Given the description of an element on the screen output the (x, y) to click on. 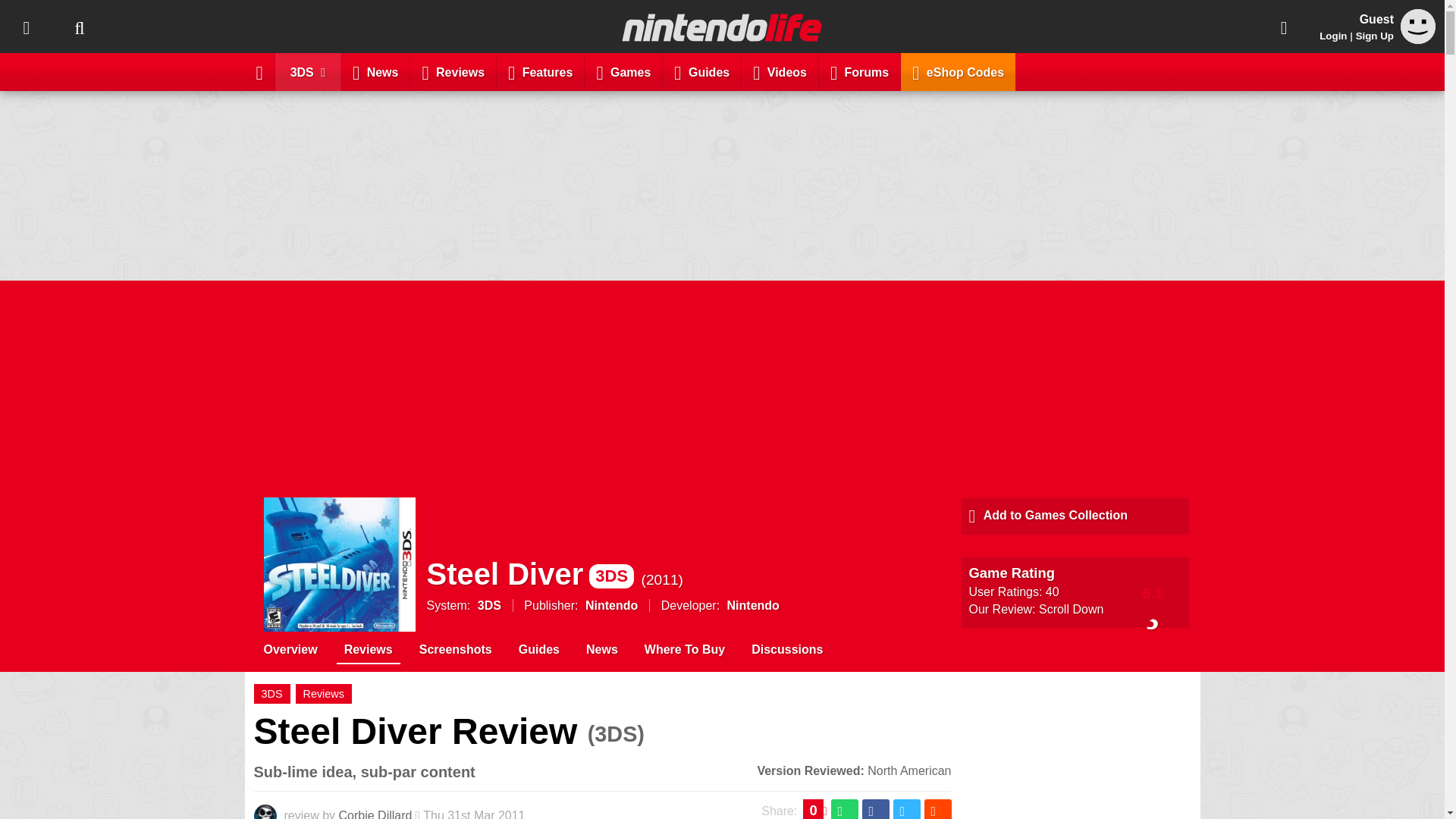
Features (540, 71)
Games (623, 71)
Steel Diver3DS (529, 573)
The average score from our readers is 6.13 (1152, 591)
eShop Codes (957, 71)
Share This Page (1283, 26)
Nintendo Life (721, 27)
Forums (859, 71)
Sign Up (1374, 35)
News (375, 71)
